Given the description of an element on the screen output the (x, y) to click on. 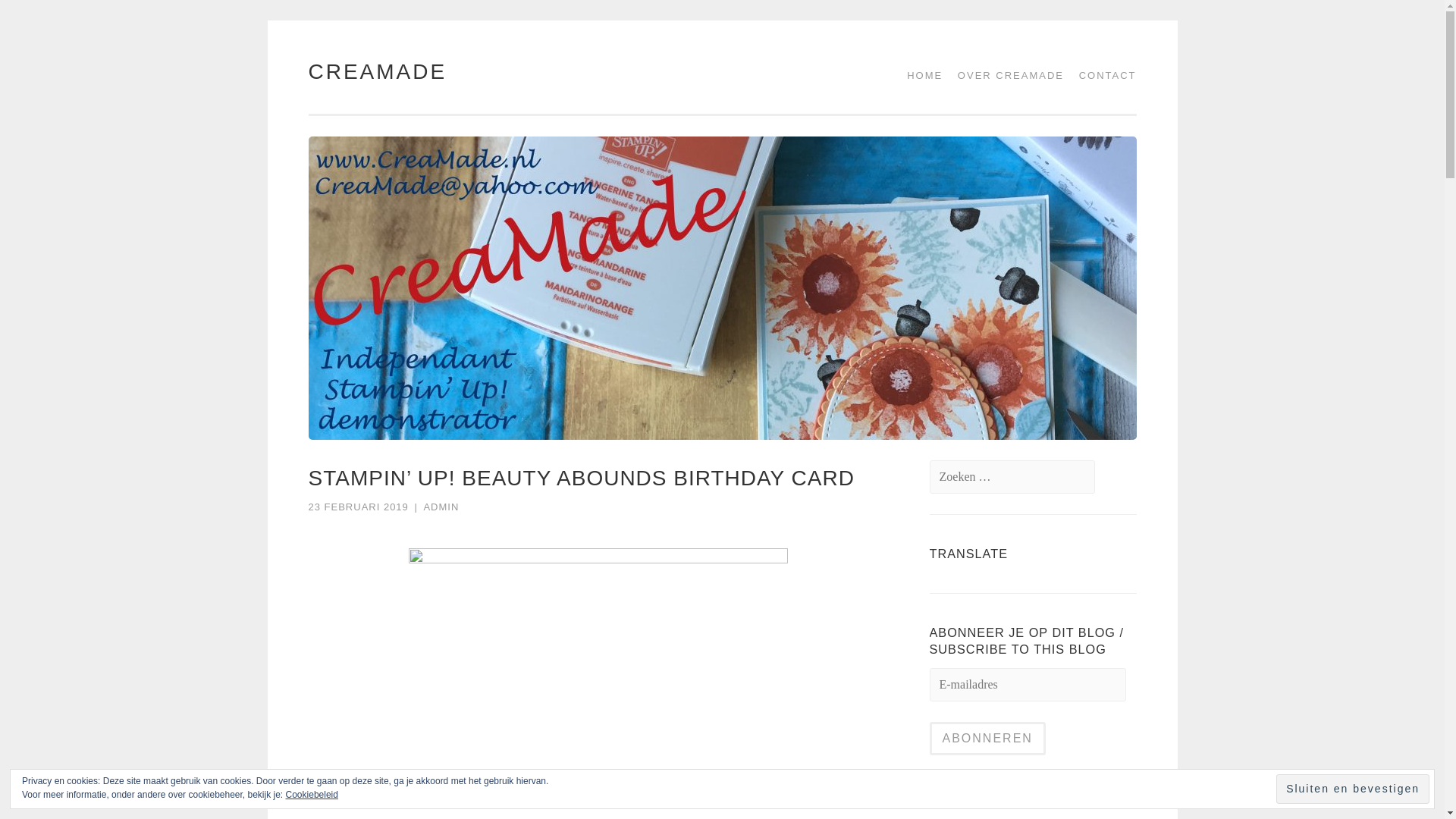
ADMIN (440, 506)
CREAMADE (376, 71)
23 FEBRUARI 2019 (357, 506)
OVER CREAMADE (1005, 75)
CONTACT (1102, 75)
Sluiten en bevestigen (1352, 788)
HOME (919, 75)
